Given the description of an element on the screen output the (x, y) to click on. 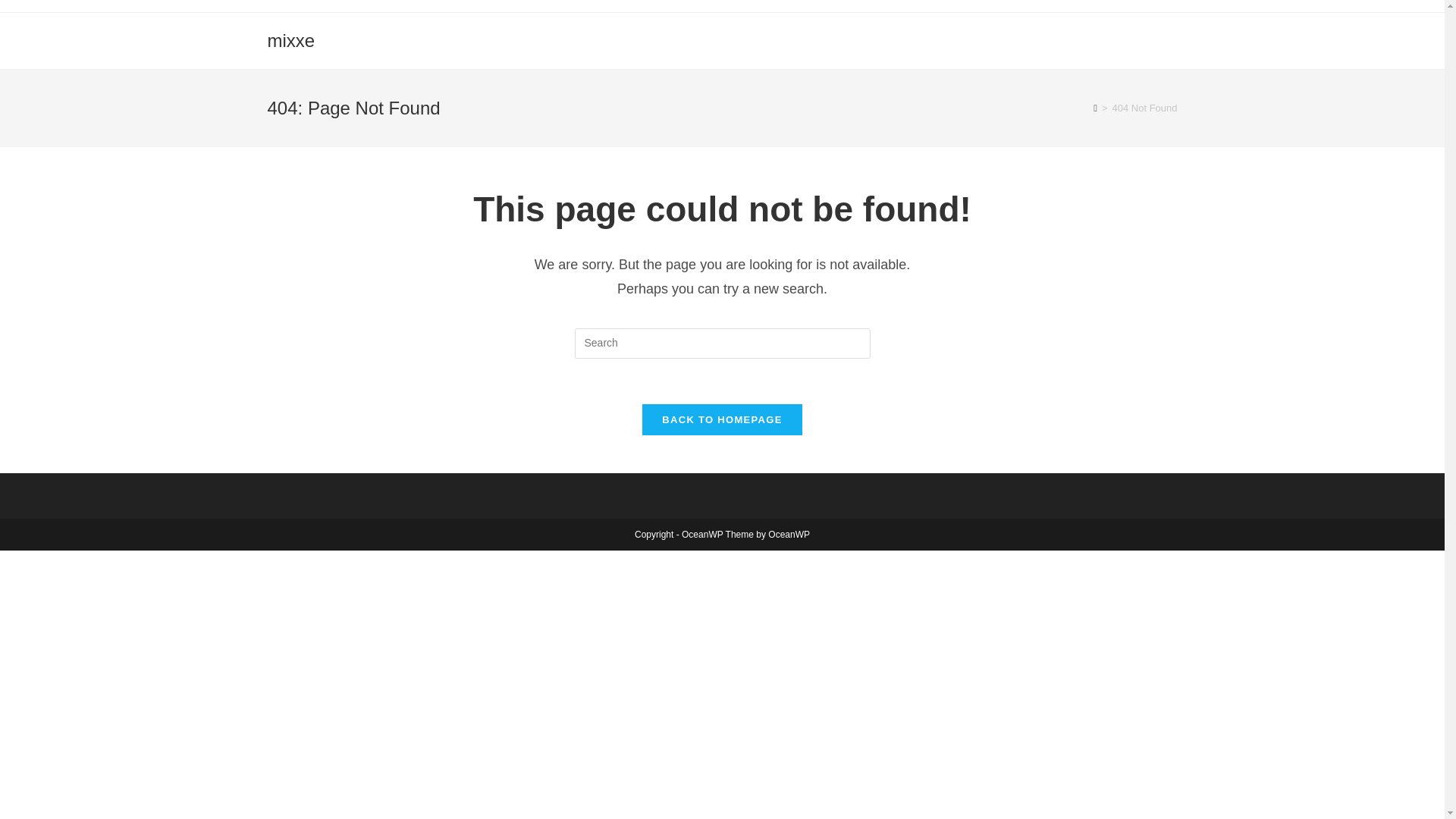
mixxe (290, 40)
BACK TO HOMEPAGE (722, 419)
